Given the description of an element on the screen output the (x, y) to click on. 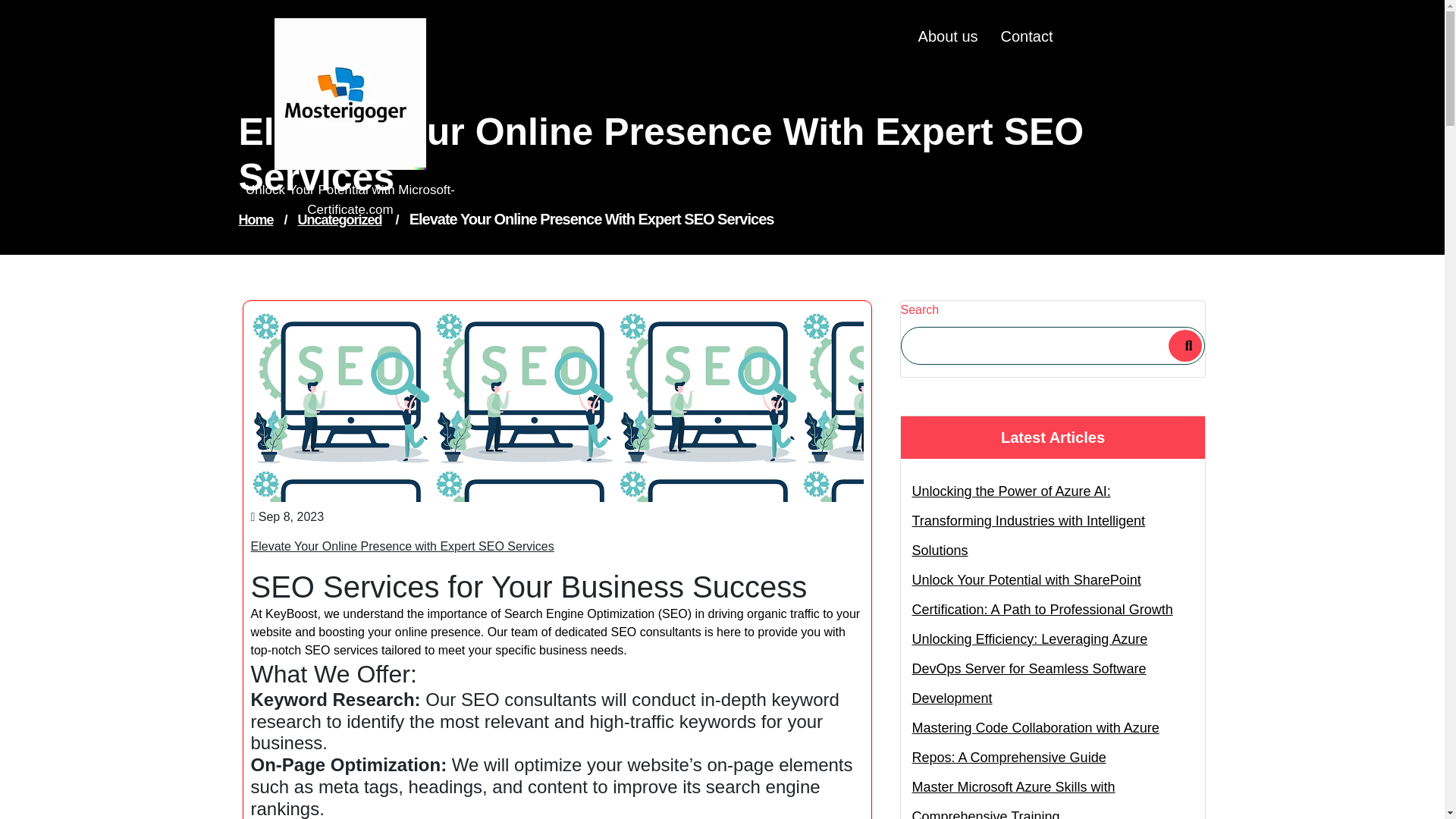
Home (255, 219)
Uncategorized (339, 219)
Master Microsoft Azure Skills with Comprehensive Training (1052, 796)
Contact (1015, 36)
Search (1185, 345)
About us (936, 36)
